Given the description of an element on the screen output the (x, y) to click on. 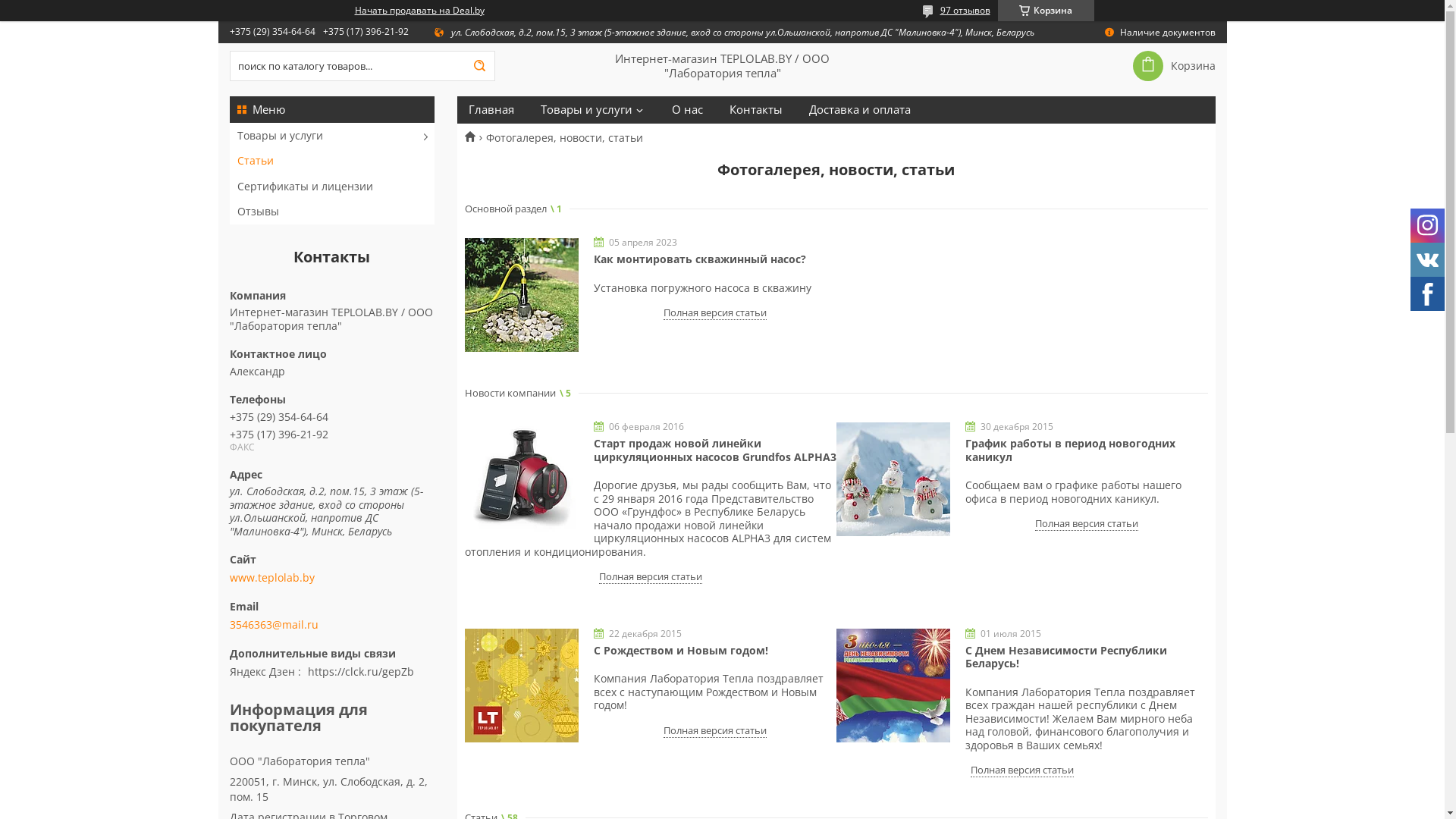
https://clck.ru/gepZb Element type: text (360, 671)
3546363@mail.ru Element type: text (273, 624)
www.teplolab.by Element type: text (331, 577)
